Given the description of an element on the screen output the (x, y) to click on. 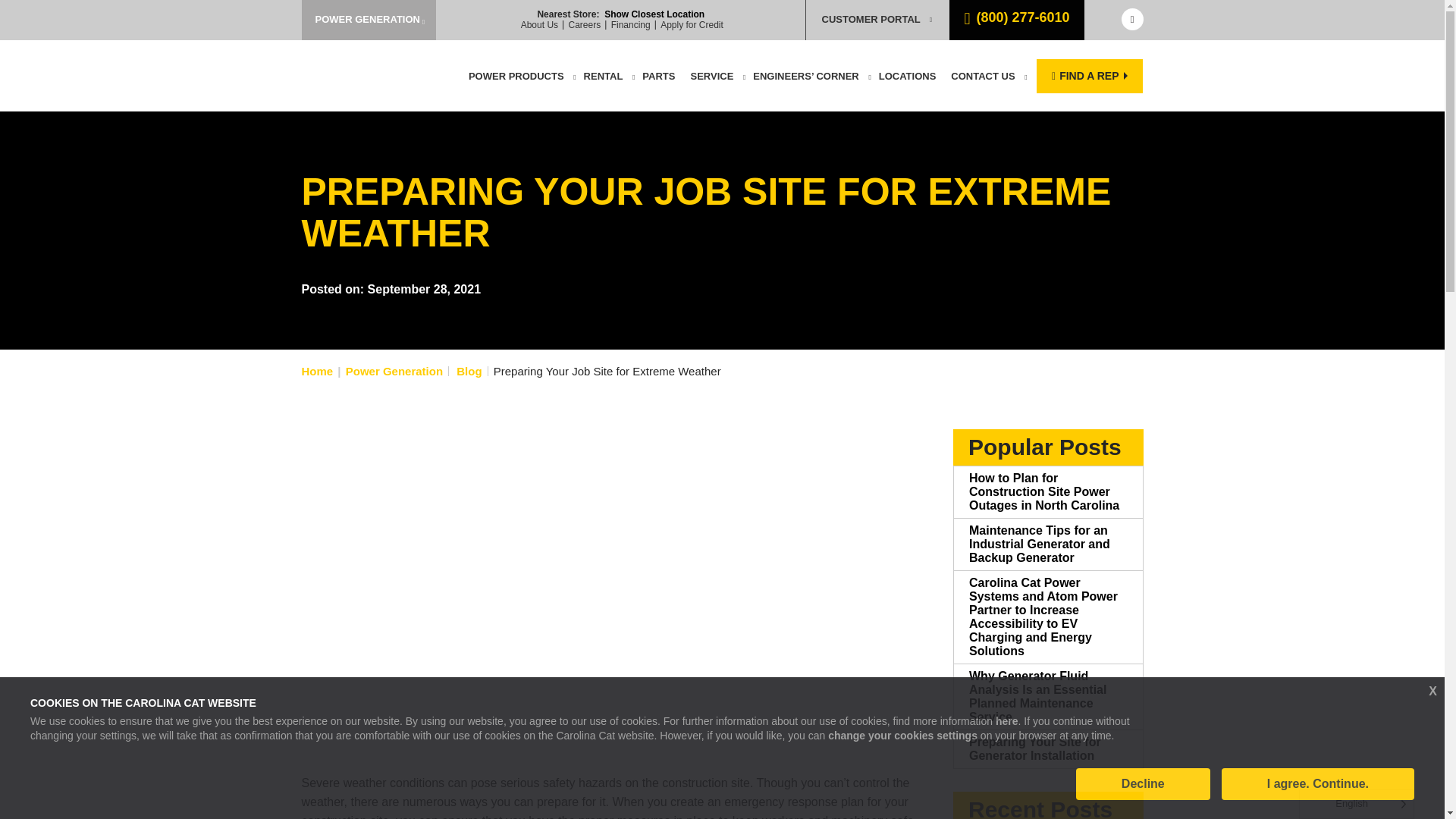
change your cookies settings (902, 735)
here (1006, 720)
I agree. Continue. (1317, 784)
Show Closest Location (654, 14)
POWER PRODUCTS (516, 75)
Financing (630, 24)
Careers (585, 24)
SERVICE (711, 75)
Decline (1142, 784)
Apply for Credit (692, 24)
RENTAL (603, 75)
About Us (539, 24)
PARTS (658, 75)
